Given the description of an element on the screen output the (x, y) to click on. 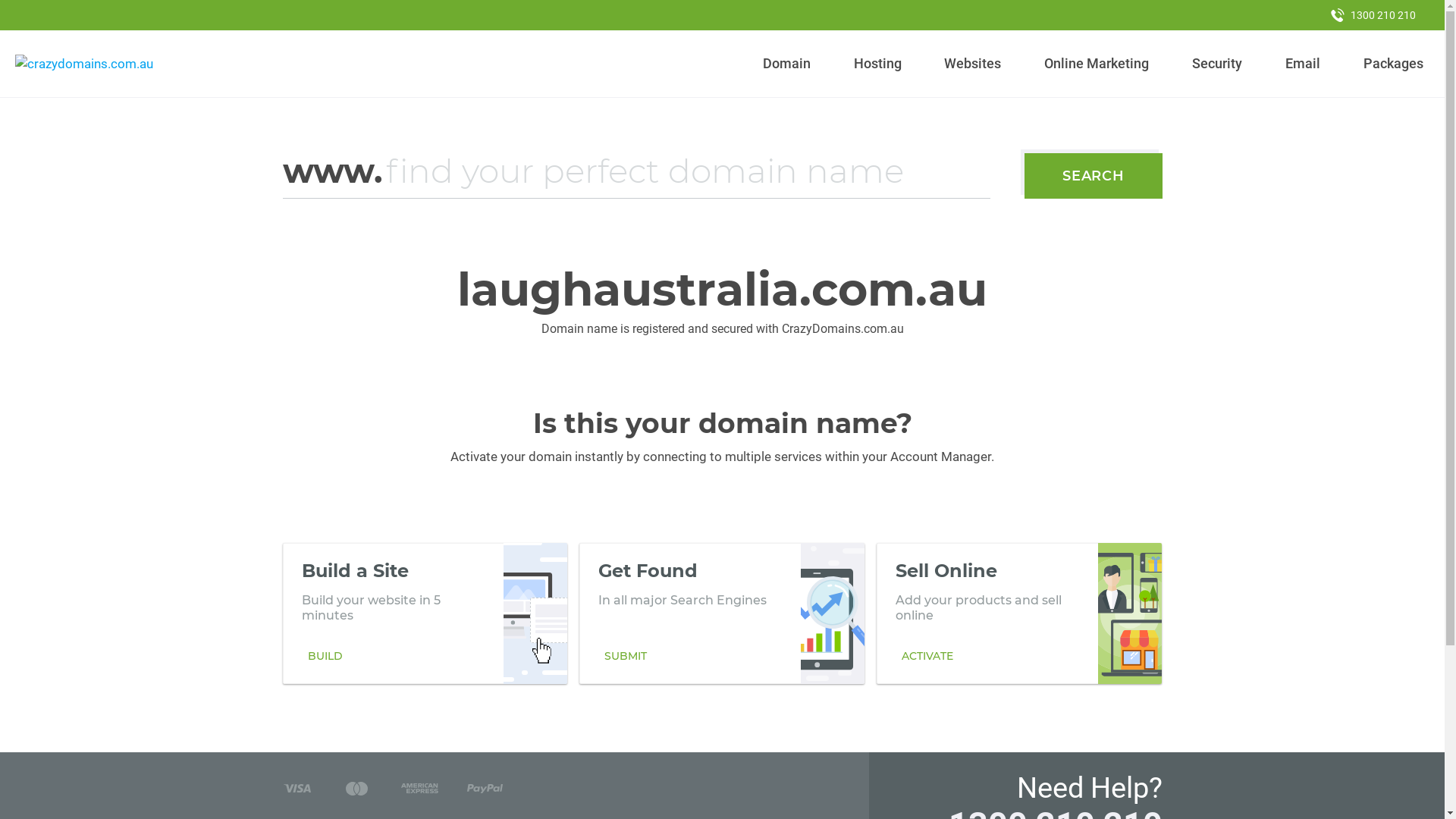
Sell Online
Add your products and sell online
ACTIVATE Element type: text (1018, 613)
Packages Element type: text (1392, 63)
Security Element type: text (1217, 63)
Websites Element type: text (972, 63)
SEARCH Element type: text (1092, 175)
Online Marketing Element type: text (1096, 63)
1300 210 210 Element type: text (1373, 15)
Build a Site
Build your website in 5 minutes
BUILD Element type: text (424, 613)
Domain Element type: text (786, 63)
Get Found
In all major Search Engines
SUBMIT Element type: text (721, 613)
Email Element type: text (1302, 63)
Hosting Element type: text (877, 63)
